Given the description of an element on the screen output the (x, y) to click on. 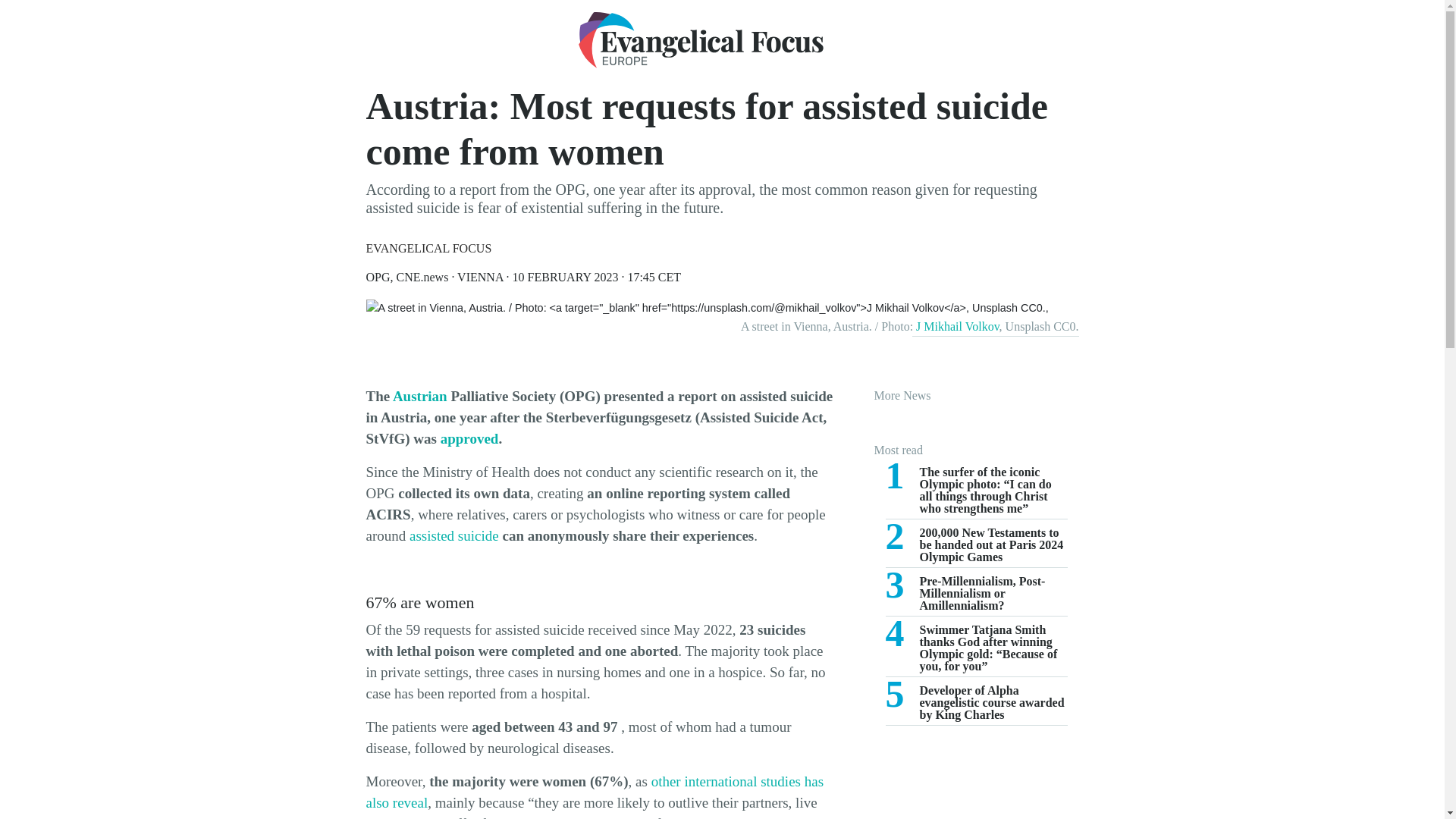
Austrian (419, 396)
approved (976, 595)
other international studies has also reveal (470, 438)
assisted suicide (594, 791)
J Mikhail Volkov (454, 535)
Evangelical Focus (956, 326)
EVANGELICAL FOCUS (700, 39)
